Given the description of an element on the screen output the (x, y) to click on. 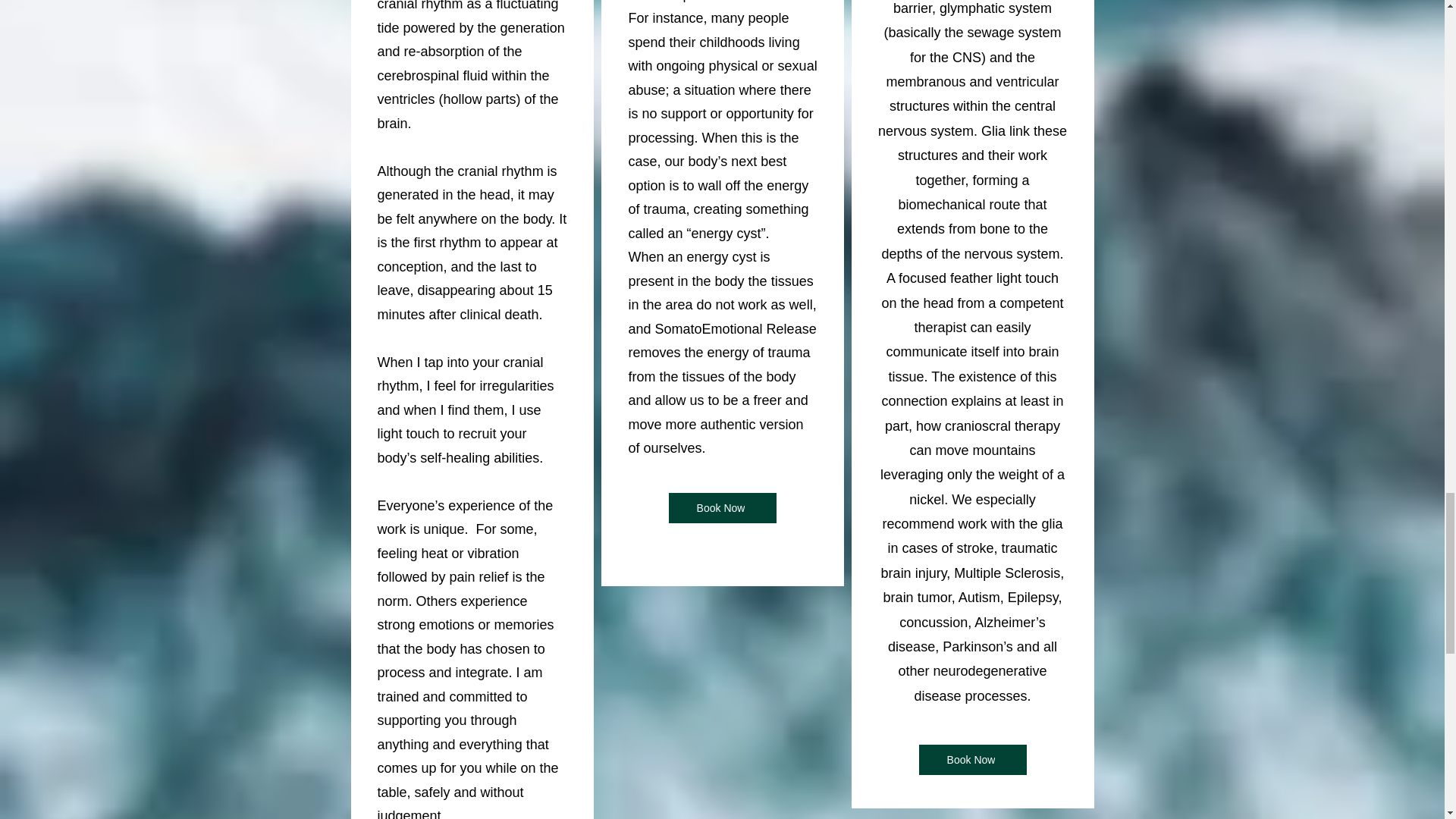
Book Now (722, 508)
Book Now (972, 759)
